Given the description of an element on the screen output the (x, y) to click on. 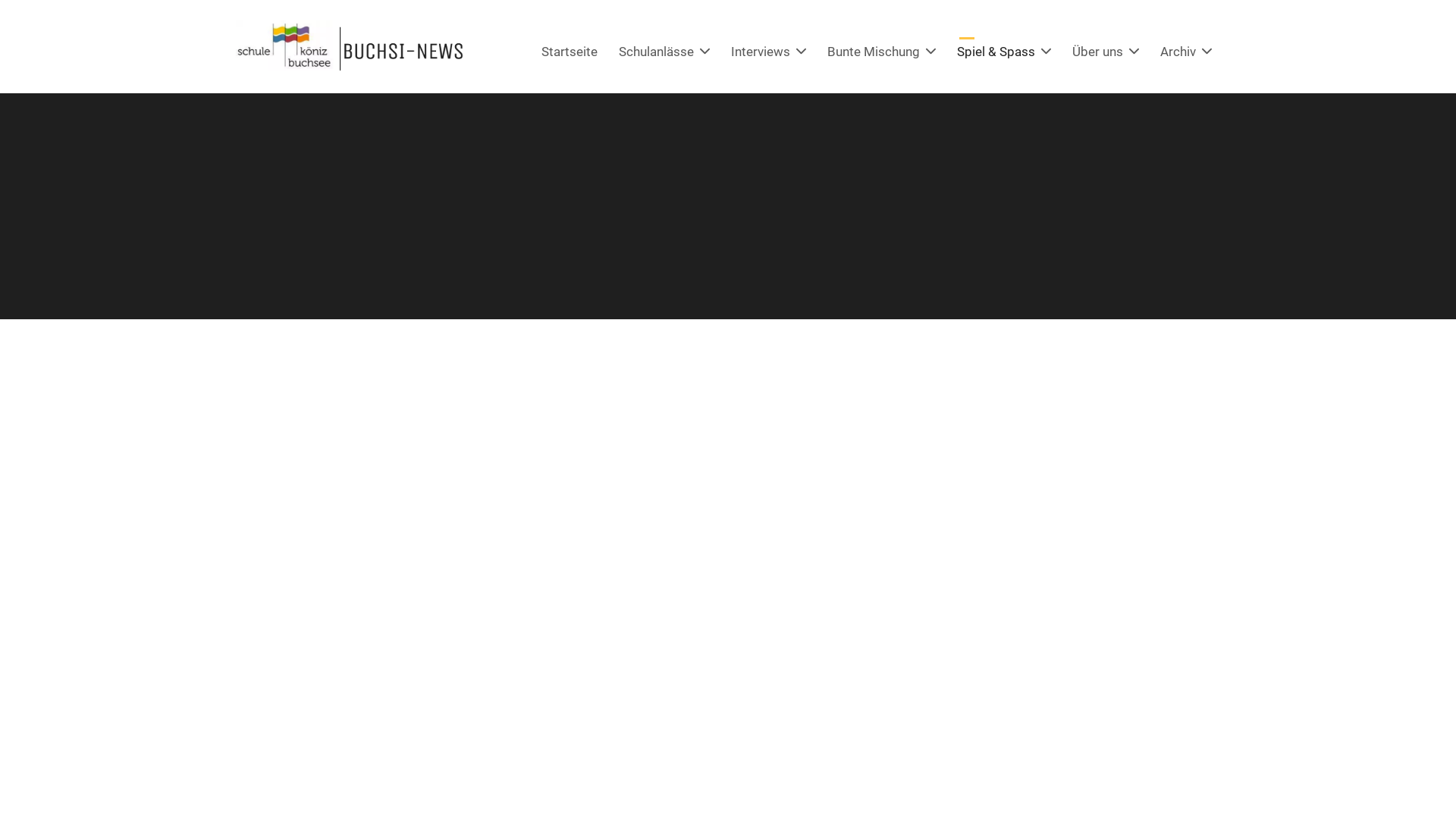
Startseite Element type: text (569, 51)
